Given the description of an element on the screen output the (x, y) to click on. 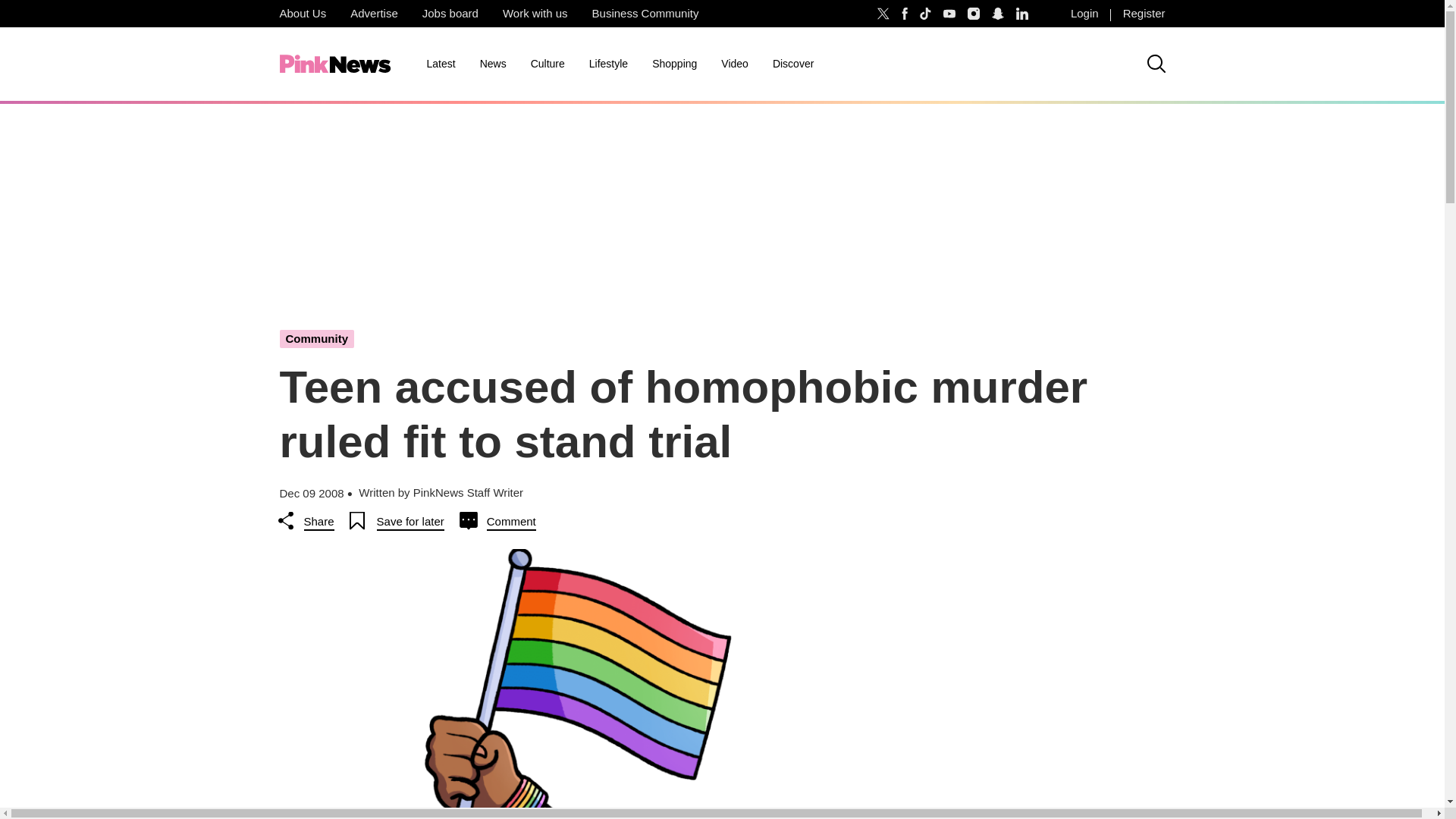
Follow PinkNews on LinkedIn (1021, 13)
Register (1143, 13)
News (493, 63)
Advertise (373, 13)
Login (1084, 13)
Jobs board (450, 13)
Lifestyle (608, 63)
Latest (440, 63)
About Us (301, 13)
Culture (547, 63)
